Given the description of an element on the screen output the (x, y) to click on. 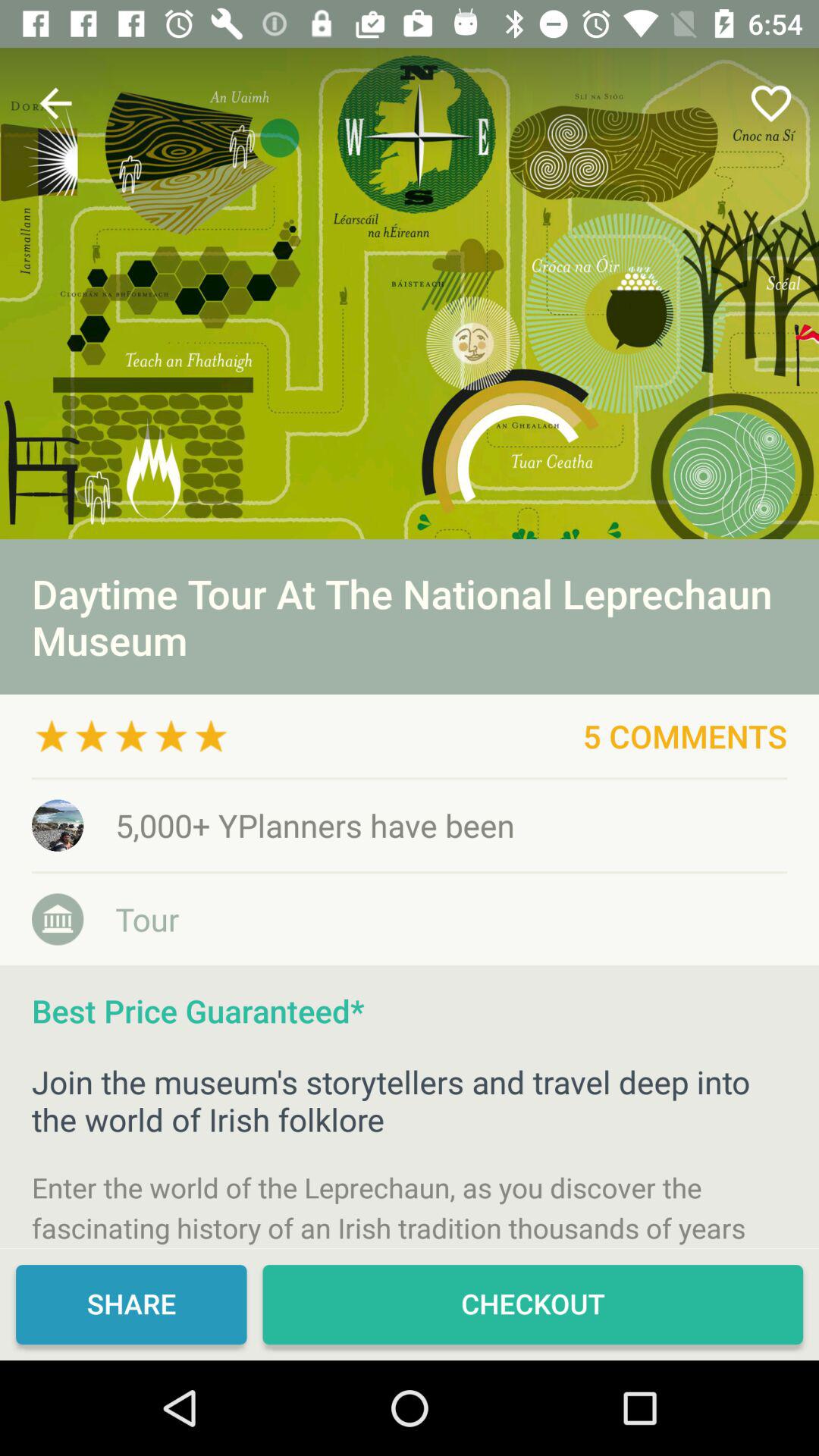
go back (55, 103)
